Given the description of an element on the screen output the (x, y) to click on. 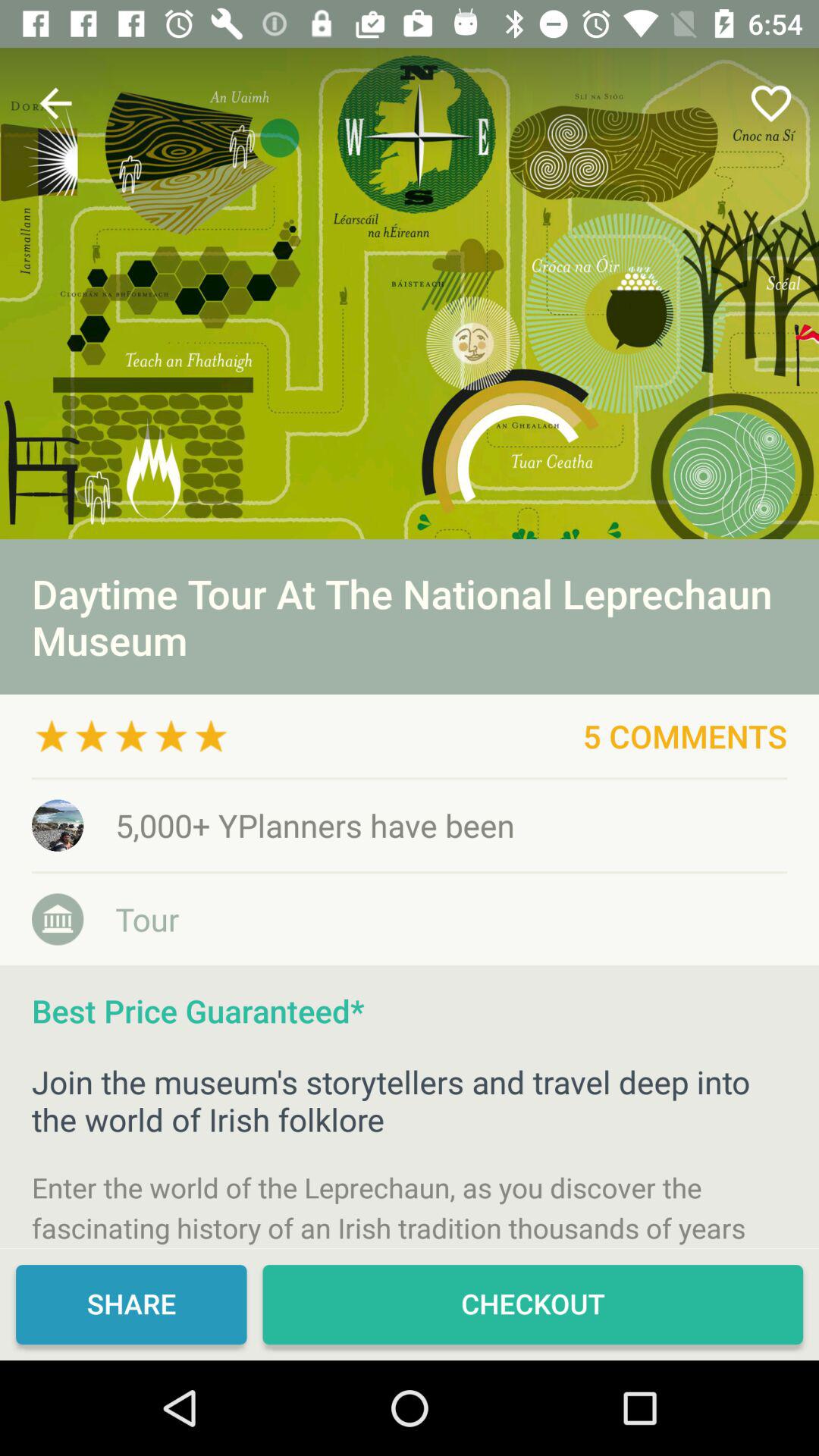
go back (55, 103)
